Given the description of an element on the screen output the (x, y) to click on. 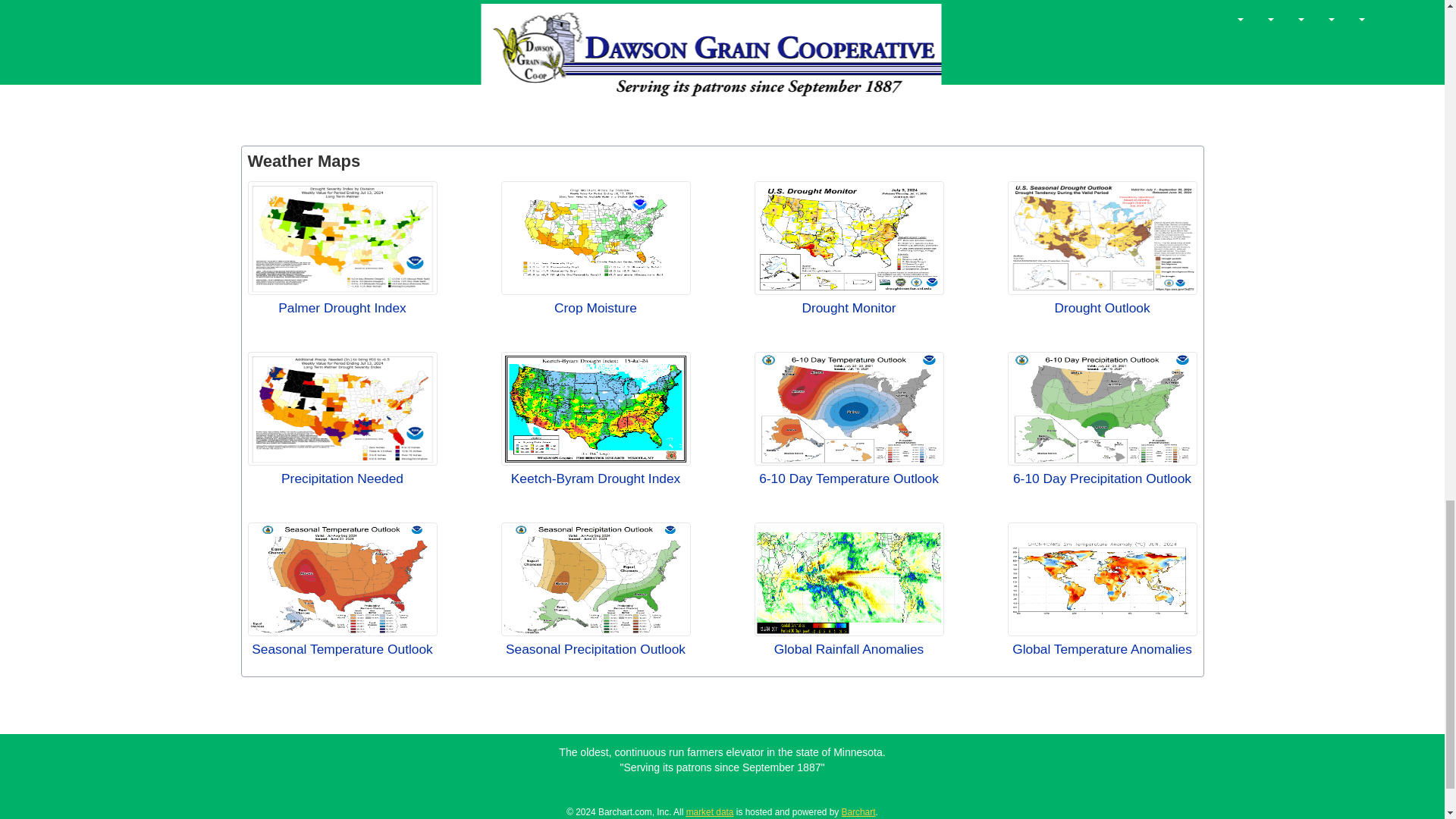
Hosting provider (858, 811)
Crop Moisture (595, 237)
Palmer Drought Index (341, 237)
6-10 Day Temperature Outlook (848, 409)
Seasonal Precipitation Outlook (595, 579)
Drought Outlook (1101, 237)
6-10 Day Precipitation Outlook (1101, 409)
Global Temperature Anomalies (1101, 579)
Seasonal Temperature Outlook (341, 579)
Keetch-Byram Drought Index (595, 409)
Drought Monitor (848, 237)
Market data provider site (709, 811)
Precipitation Needed (341, 409)
Global Rainfall Anomalies (848, 579)
